Given the description of an element on the screen output the (x, y) to click on. 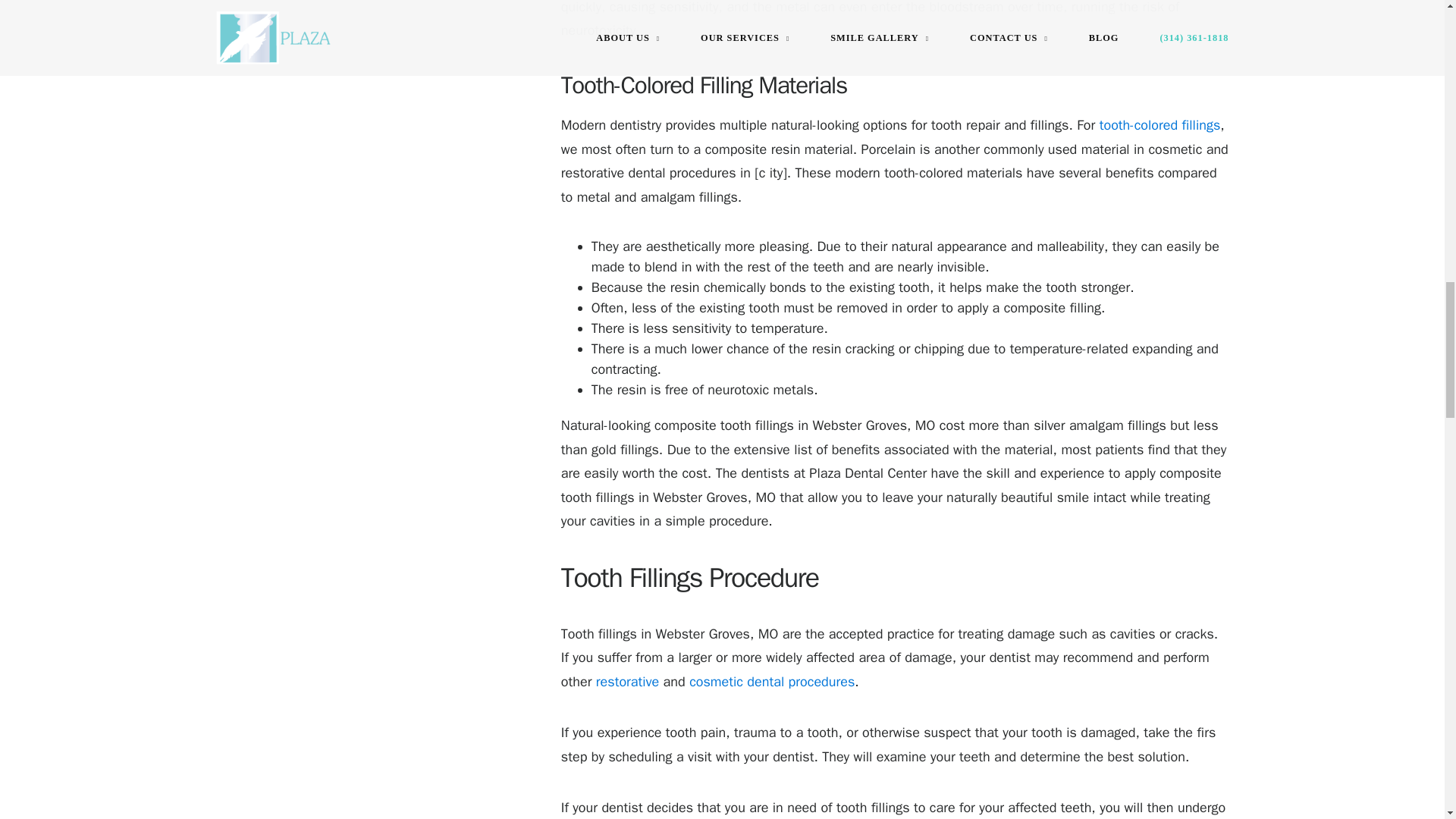
Journal of the American Dental Association (1160, 125)
